Given the description of an element on the screen output the (x, y) to click on. 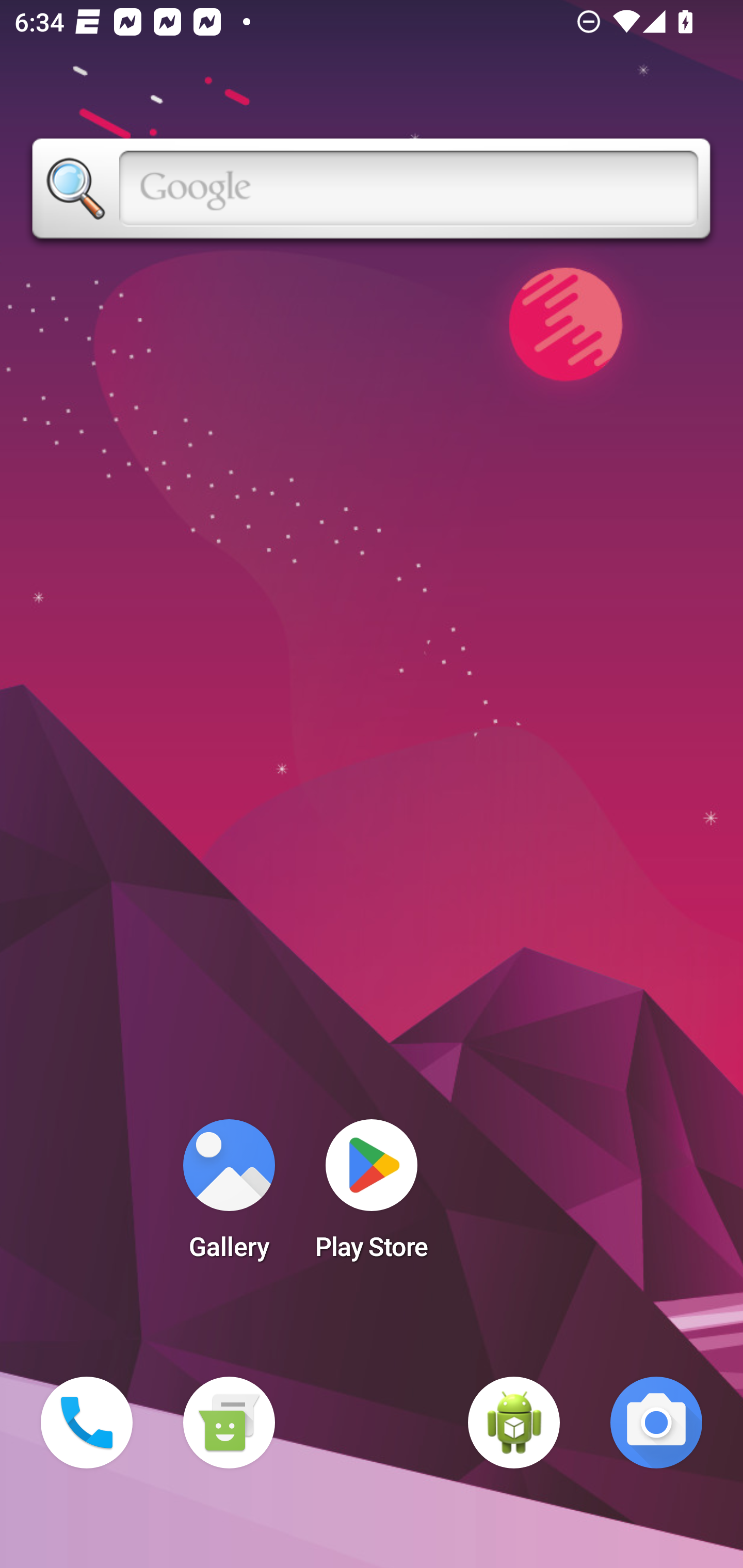
Gallery (228, 1195)
Play Store (371, 1195)
Phone (86, 1422)
Messaging (228, 1422)
WebView Browser Tester (513, 1422)
Camera (656, 1422)
